Given the description of an element on the screen output the (x, y) to click on. 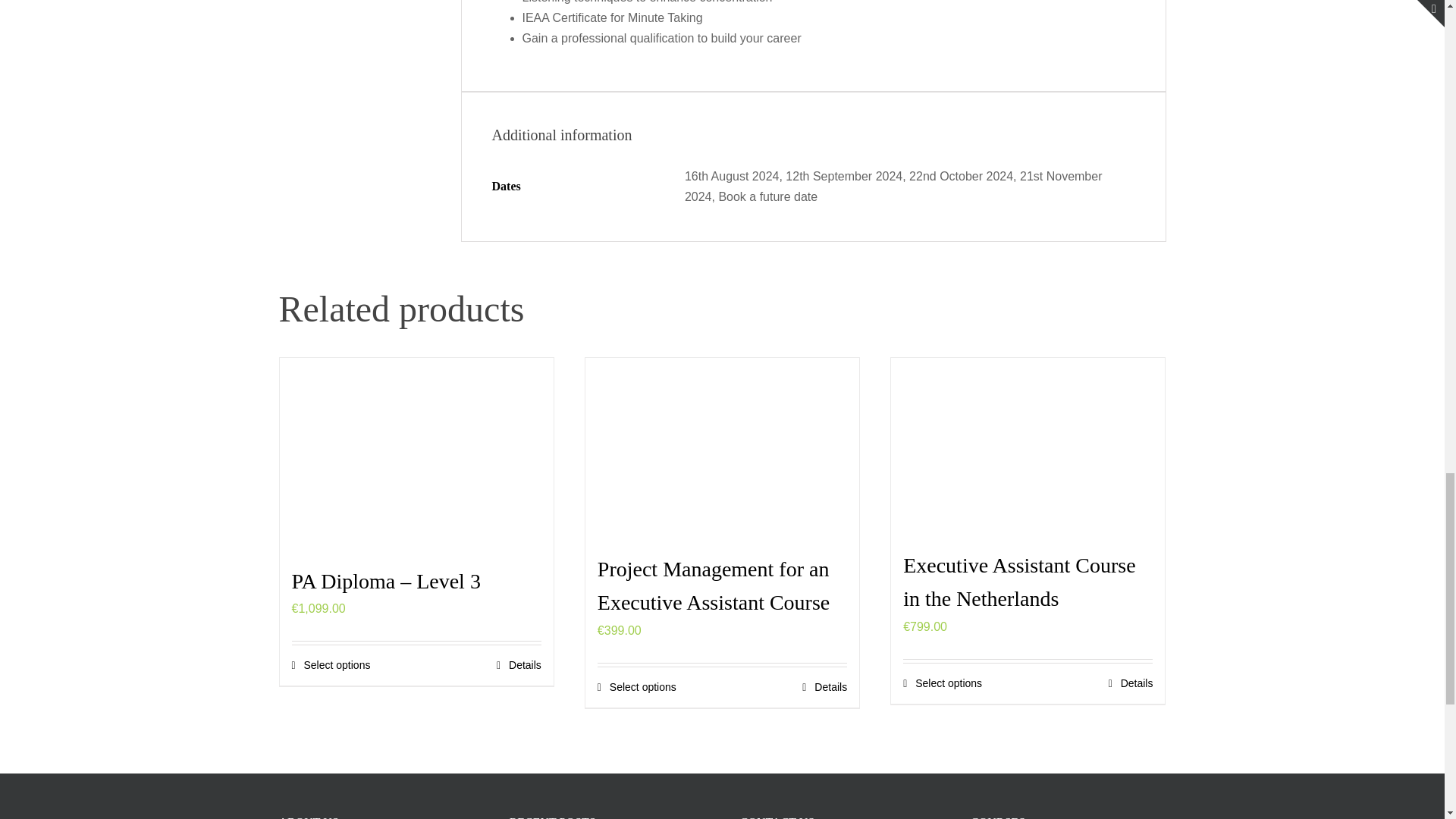
Executive Assistant Course in the Netherlands (1018, 581)
Details (518, 665)
Select options (941, 683)
Details (824, 687)
Select options (636, 687)
Select options (330, 665)
Project Management for an Executive Assistant Course (712, 586)
